Given the description of an element on the screen output the (x, y) to click on. 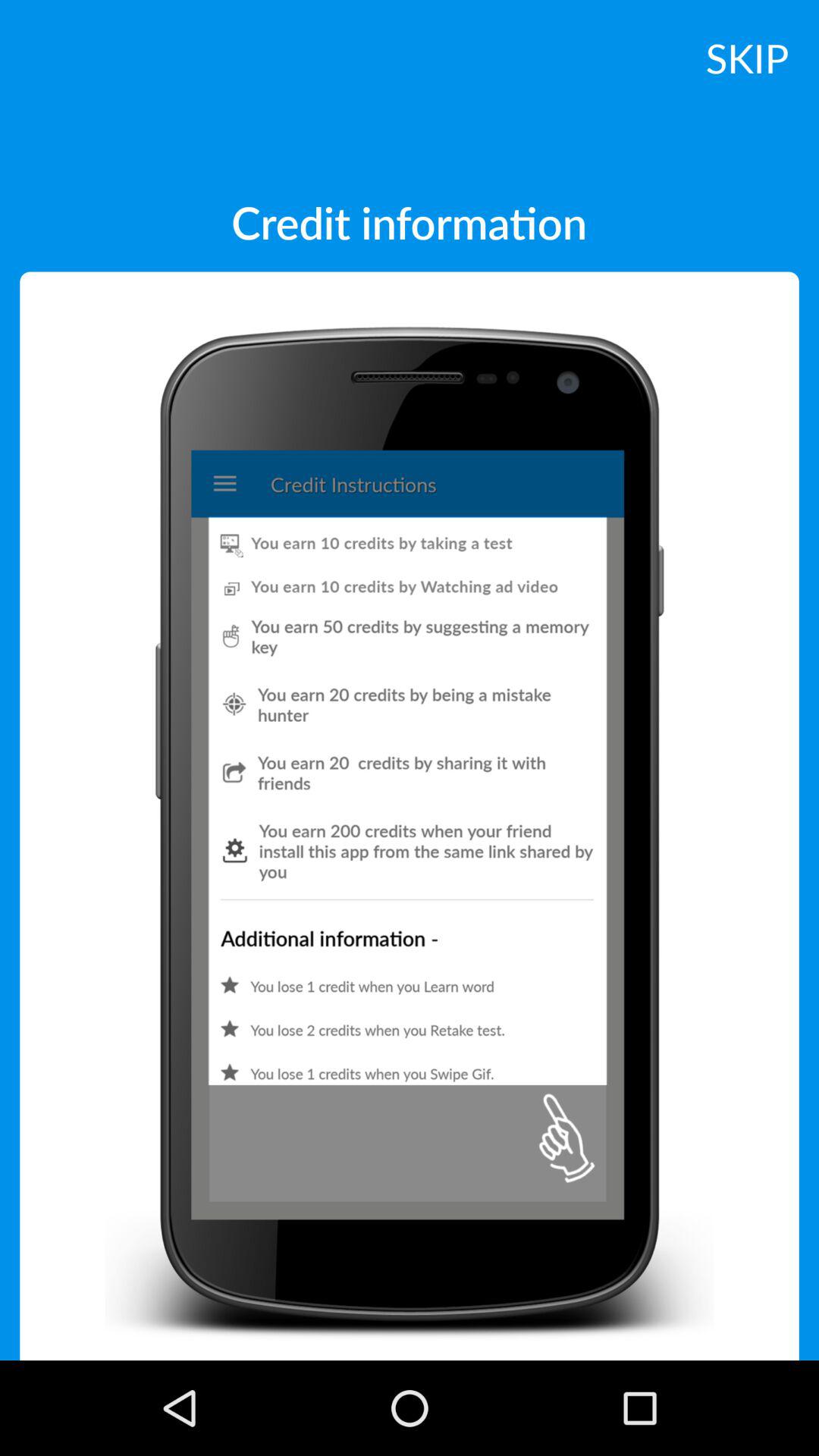
launch the skip at the top right corner (747, 57)
